Given the description of an element on the screen output the (x, y) to click on. 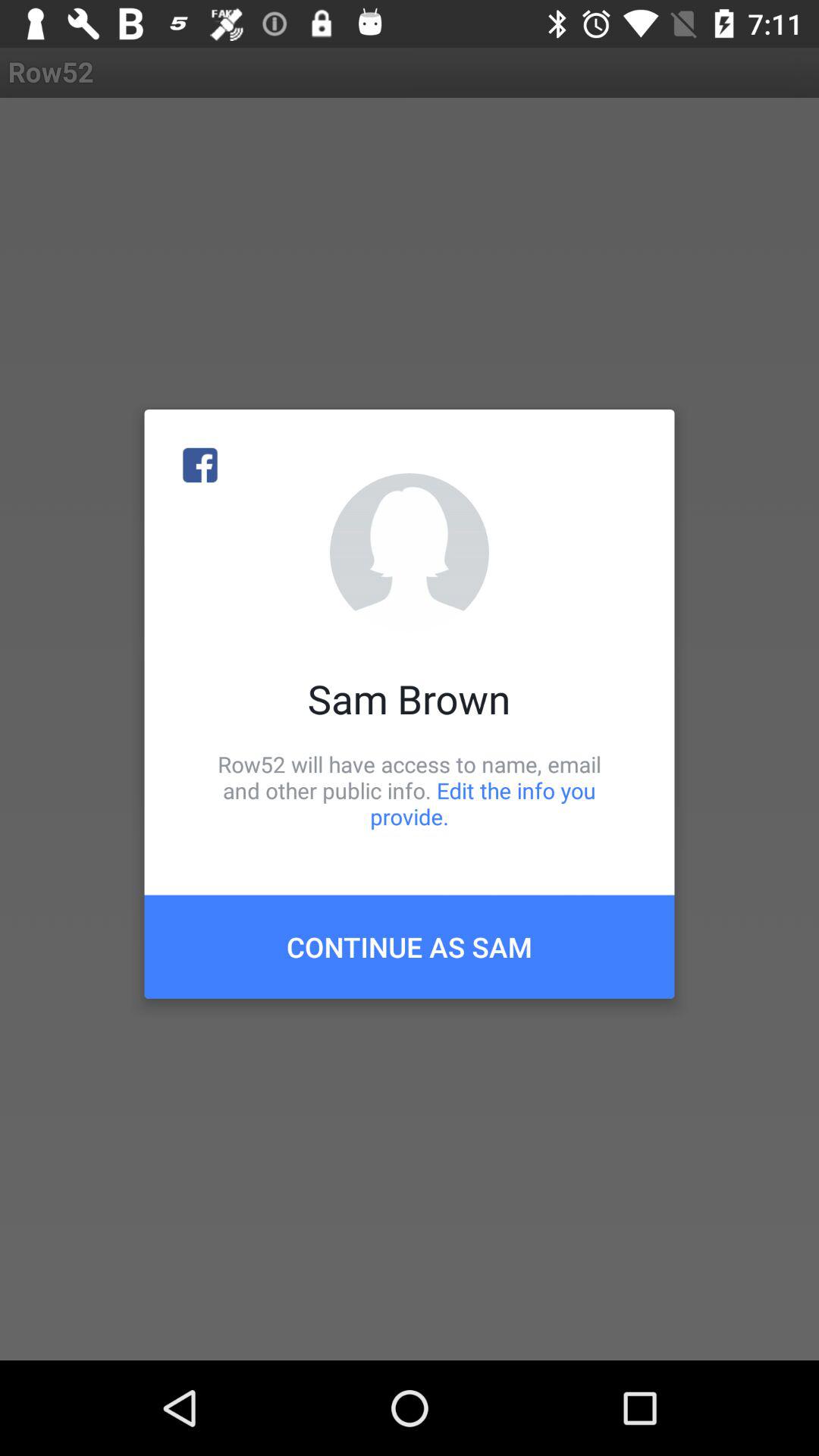
swipe until row52 will have icon (409, 790)
